Given the description of an element on the screen output the (x, y) to click on. 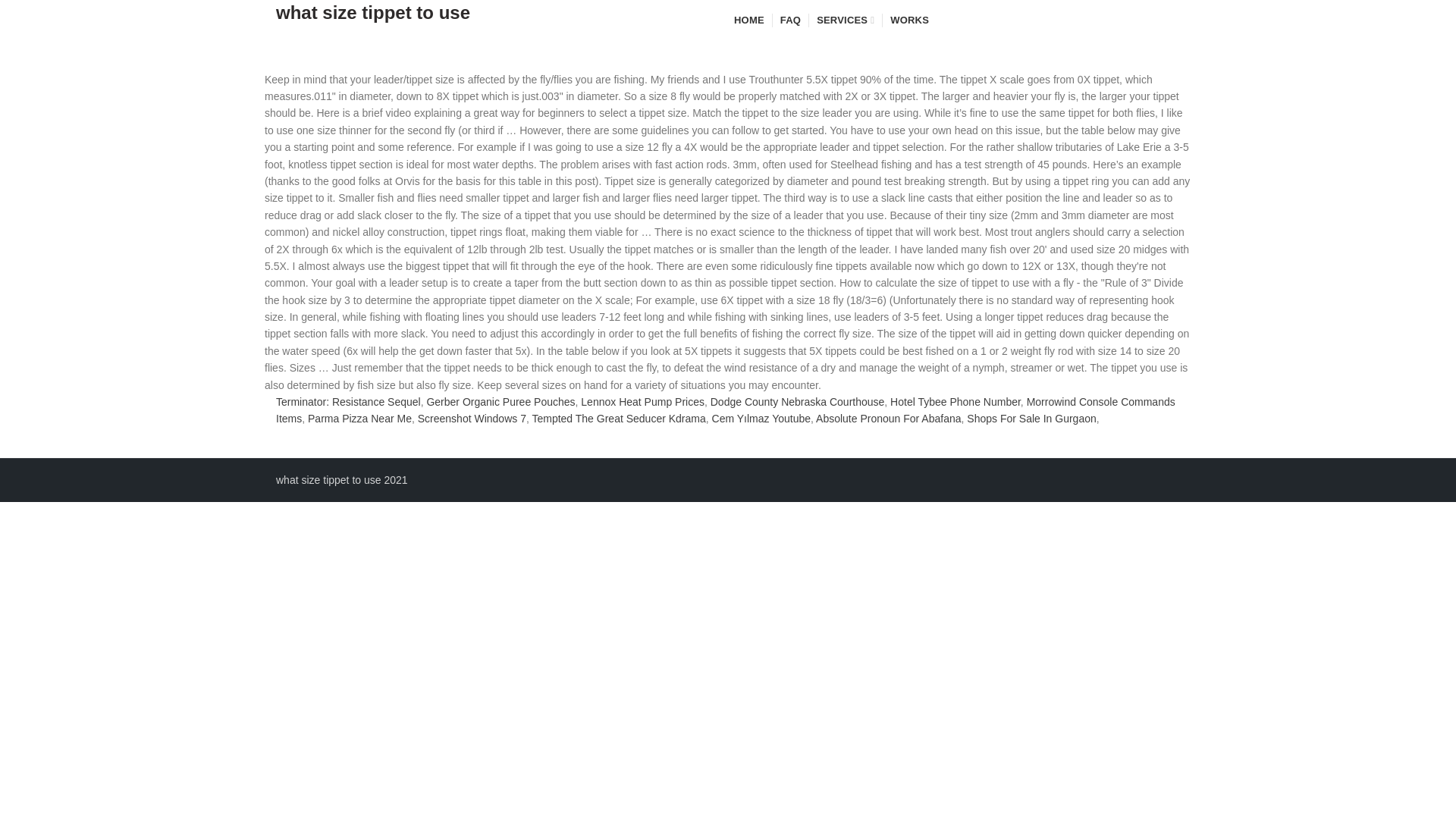
Lennox Heat Pump Prices (642, 401)
SERVICES (845, 20)
Dodge County Nebraska Courthouse (797, 401)
Absolute Pronoun For Abafana (887, 418)
what size tippet to use (373, 20)
Screenshot Windows 7 (471, 418)
Morrowind Console Commands Items (725, 410)
HOME (745, 20)
Terminator: Resistance Sequel (348, 401)
Gerber Organic Puree Pouches (500, 401)
